Given the description of an element on the screen output the (x, y) to click on. 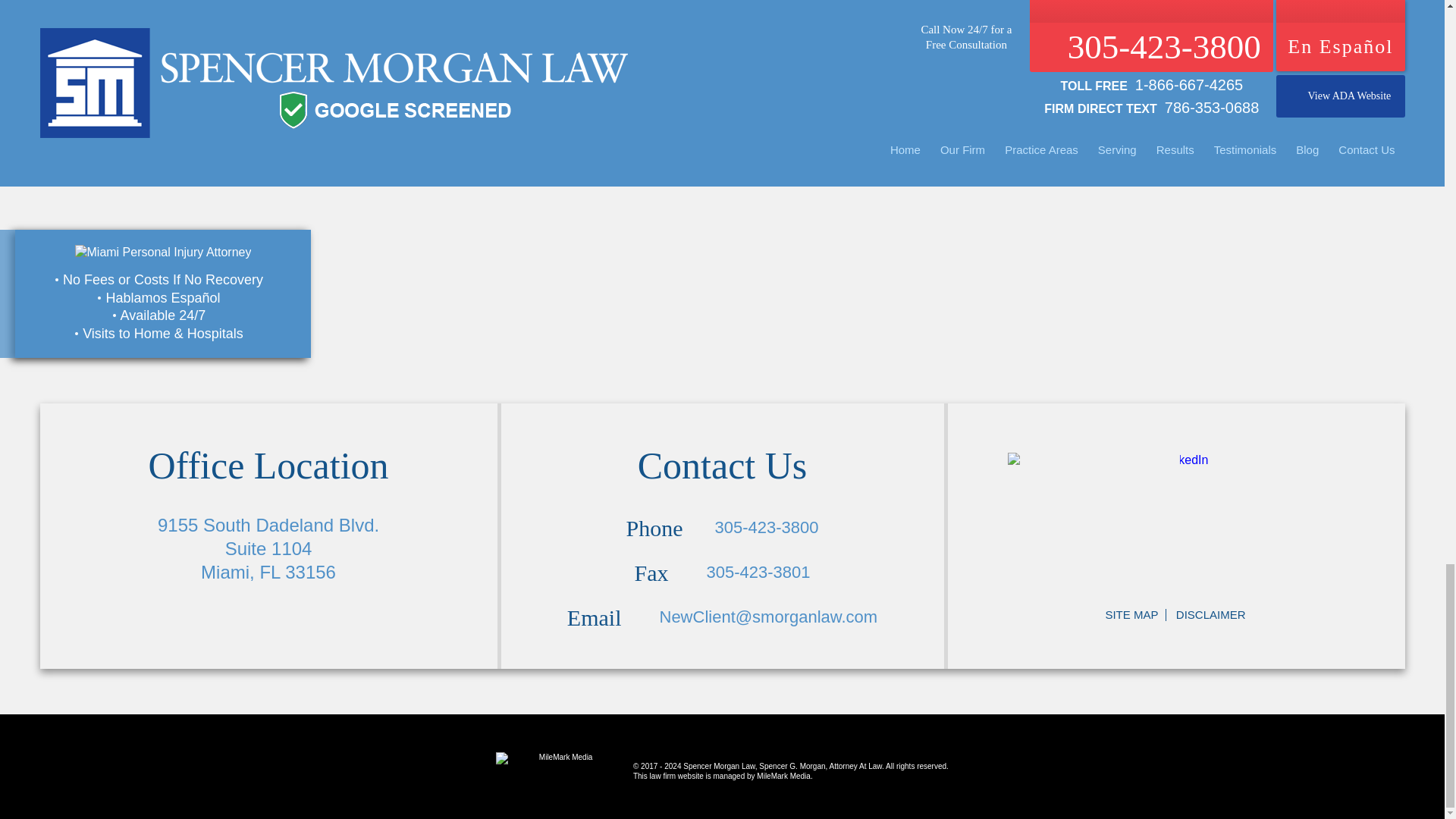
Send Your Message (1263, 77)
Miami Personal Injury Attorney (162, 252)
MileMark Media (559, 765)
